Given the description of an element on the screen output the (x, y) to click on. 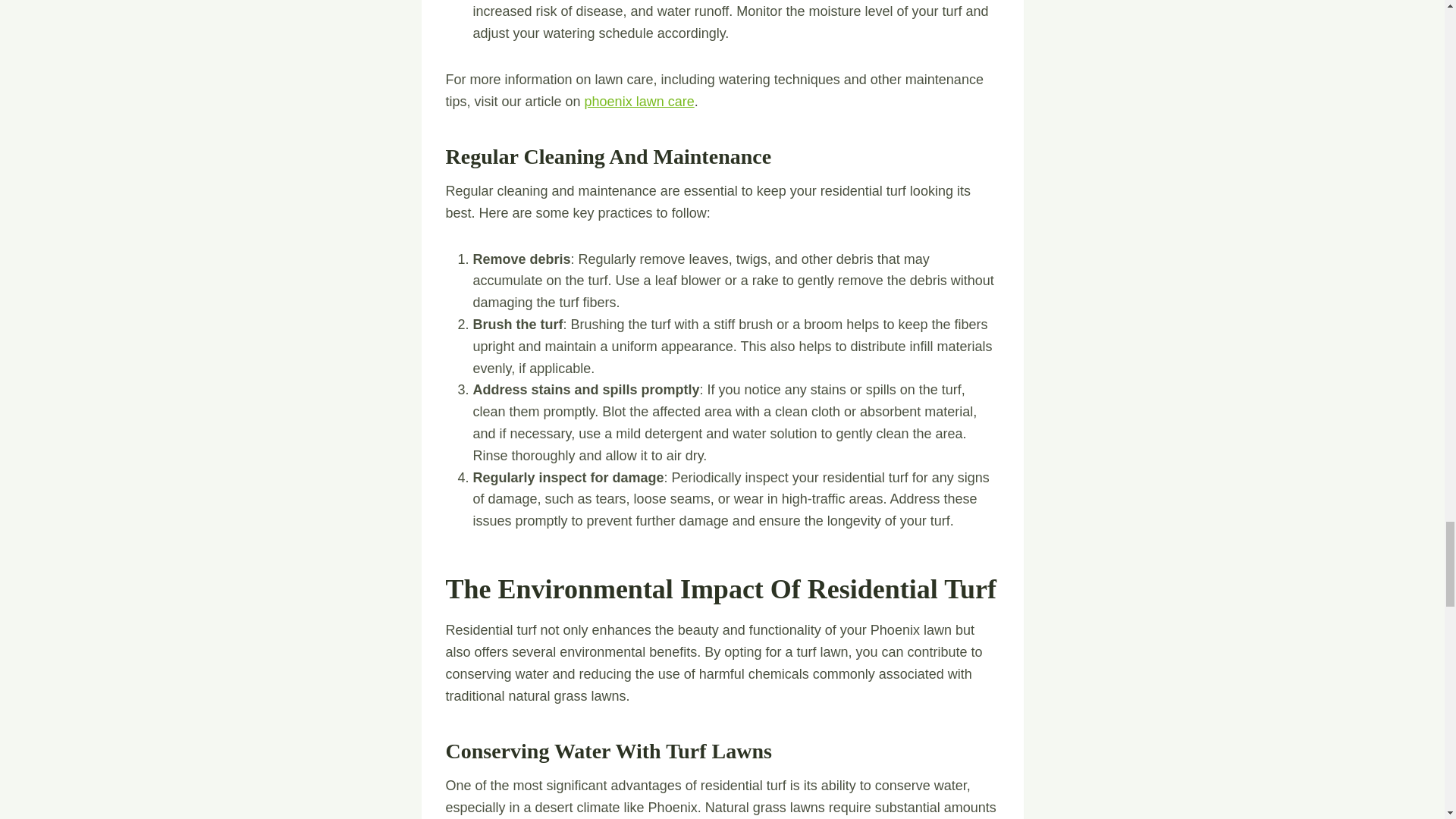
phoenix lawn care (639, 101)
